Given the description of an element on the screen output the (x, y) to click on. 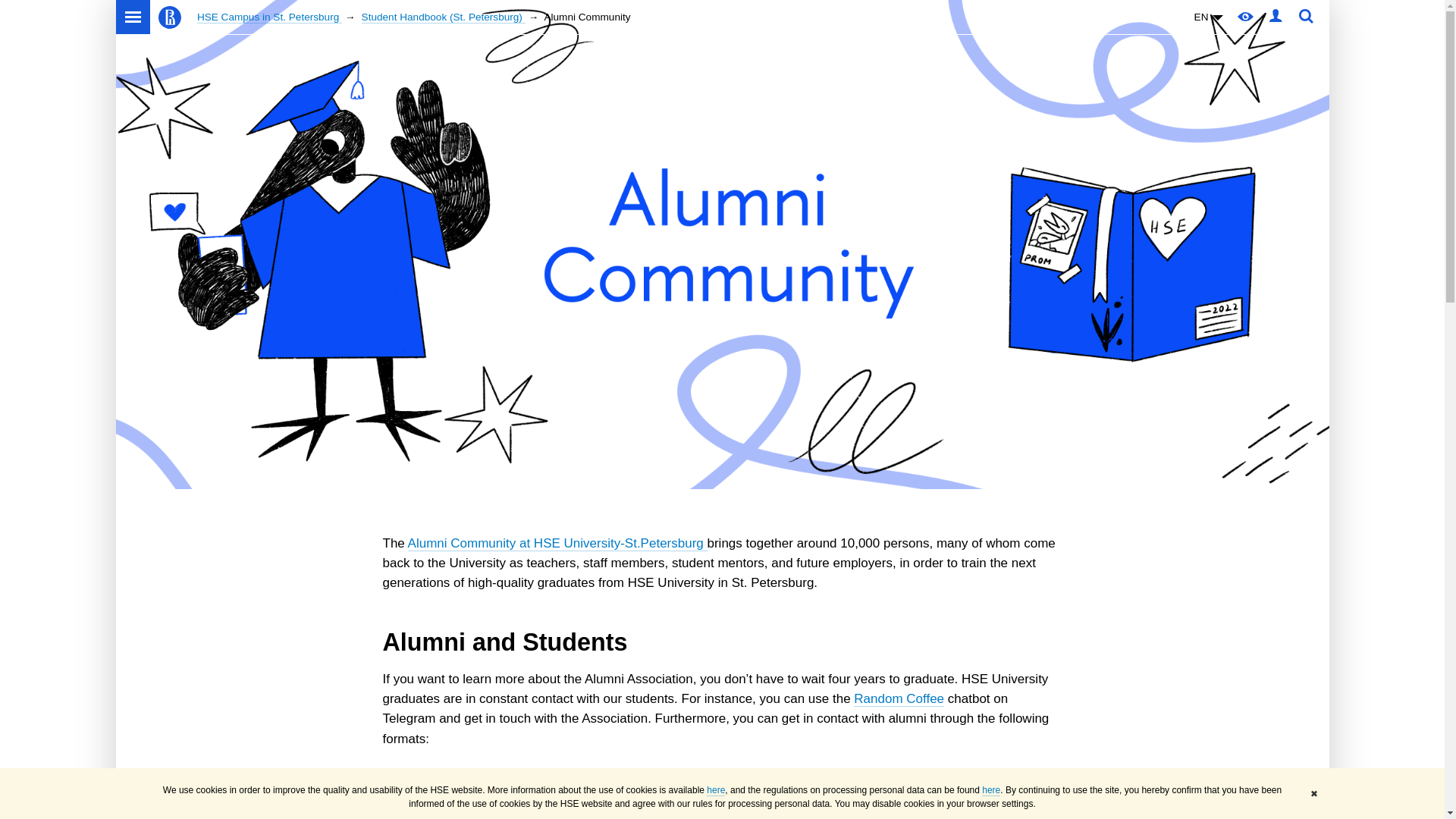
here (715, 790)
Alumni Community at HSE University-St.Petersburg (557, 543)
HSE Campus in St. Petersburg (269, 17)
Random Coffee (898, 698)
mentors (724, 814)
here (990, 790)
